Given the description of an element on the screen output the (x, y) to click on. 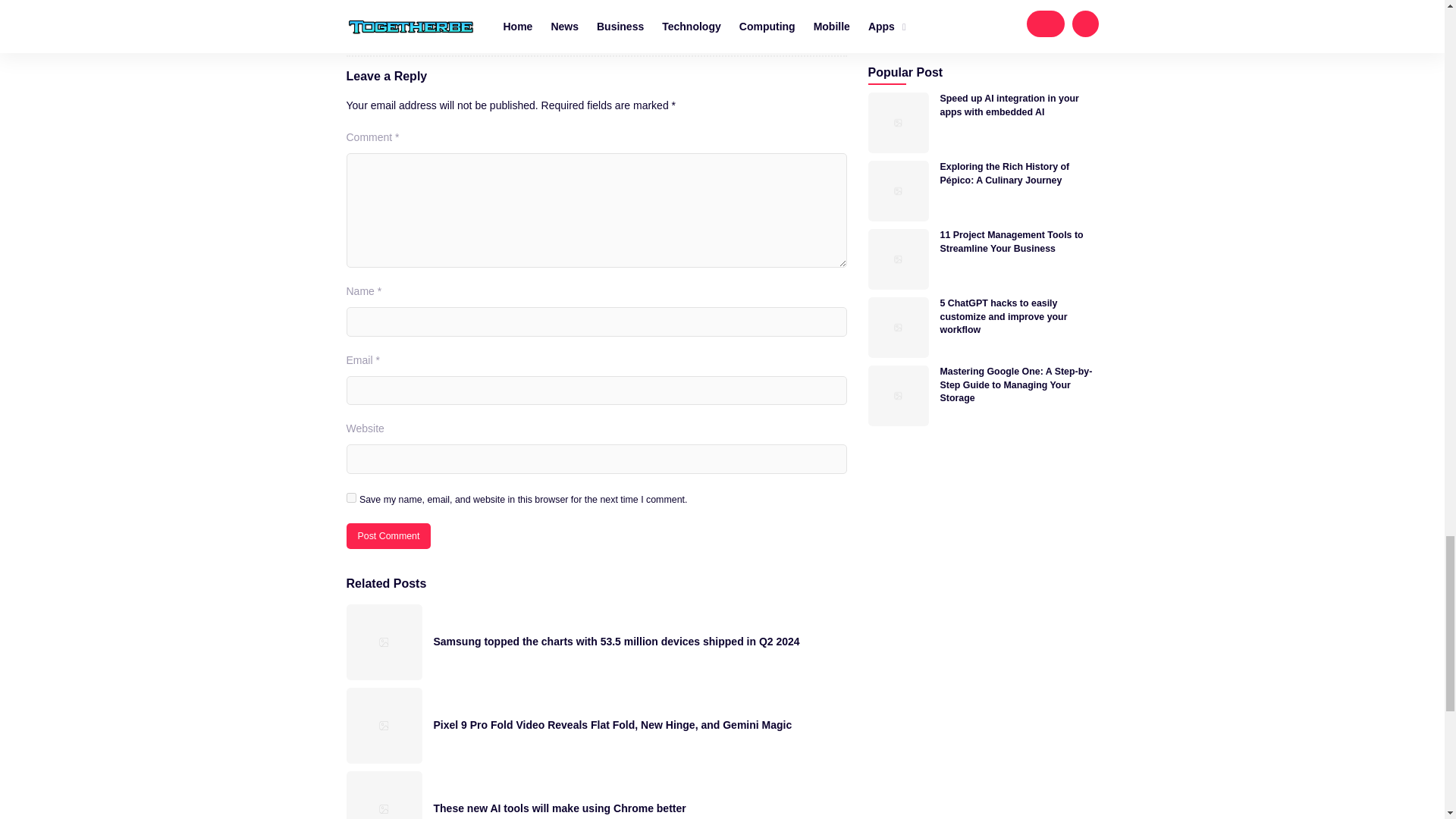
Post Comment (388, 535)
yes (350, 497)
